Given the description of an element on the screen output the (x, y) to click on. 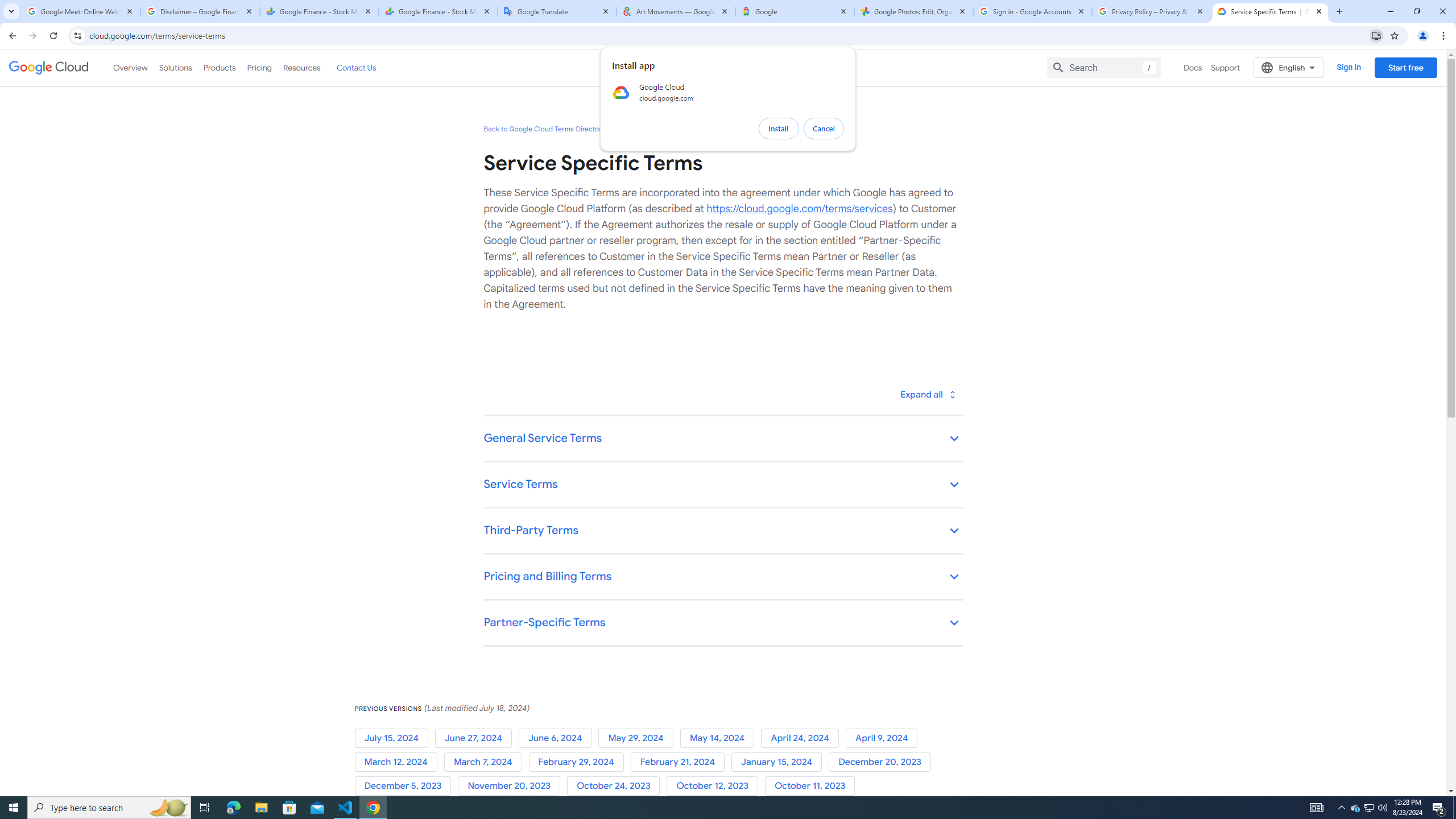
January 15, 2024 (779, 761)
October 11, 2023 (812, 786)
Pricing and Billing Terms keyboard_arrow_down (722, 577)
December 5, 2023 (405, 786)
Back to Google Cloud Terms Directory (544, 128)
October 12, 2023 (715, 786)
March 12, 2024 (398, 761)
Contact Us (355, 67)
Google Translate (556, 11)
